Given the description of an element on the screen output the (x, y) to click on. 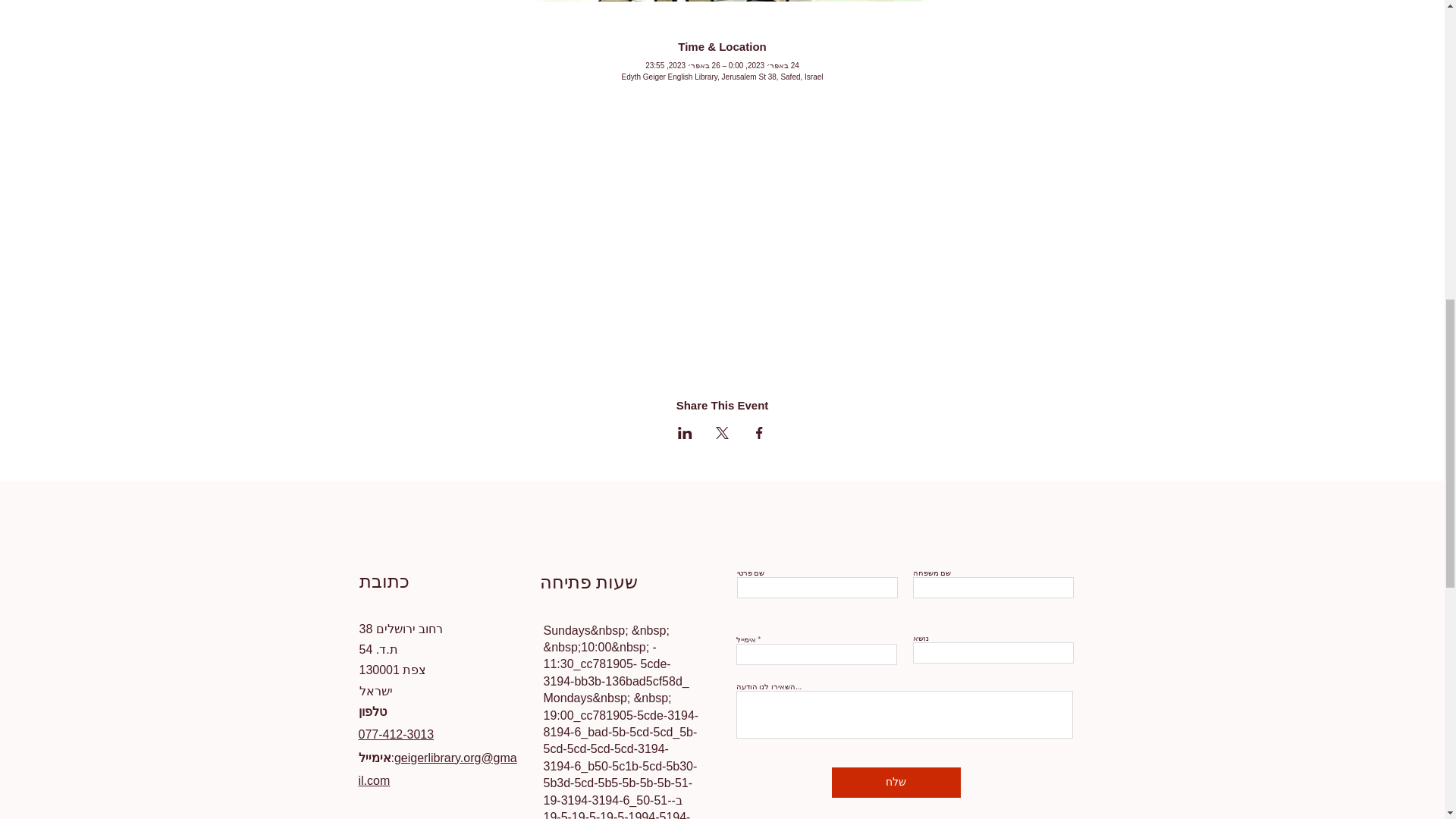
077-412-3013 (395, 734)
